Given the description of an element on the screen output the (x, y) to click on. 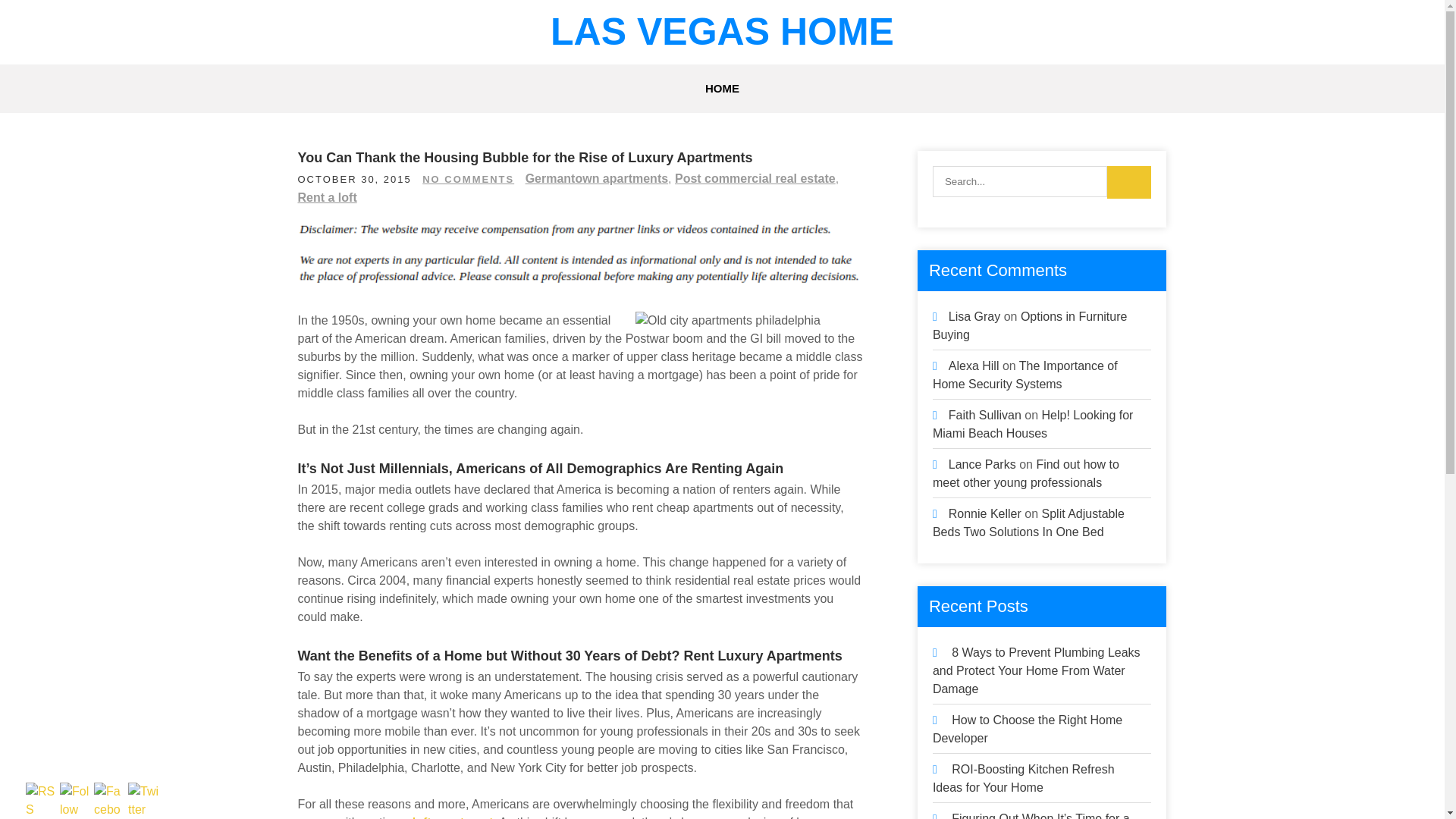
Lance Parks (982, 463)
Find out how to meet other young professionals (1026, 472)
Help! Looking for Miami Beach Houses (1033, 423)
Search (1128, 182)
LAS VEGAS HOME (721, 31)
NO COMMENTS (467, 179)
HOME (722, 88)
Search (1128, 182)
Faith Sullivan (985, 414)
Lisa Gray (974, 316)
